Given the description of an element on the screen output the (x, y) to click on. 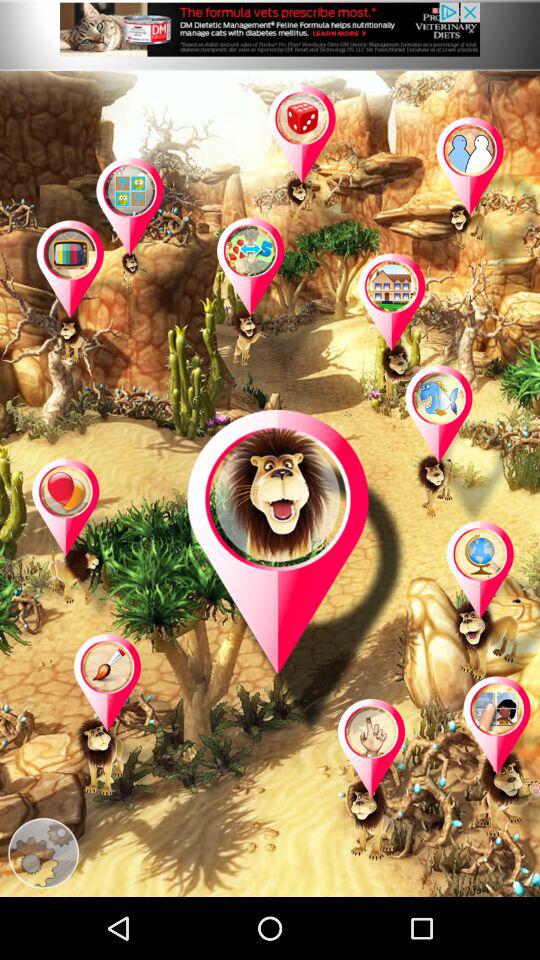
open selected game (271, 299)
